Given the description of an element on the screen output the (x, y) to click on. 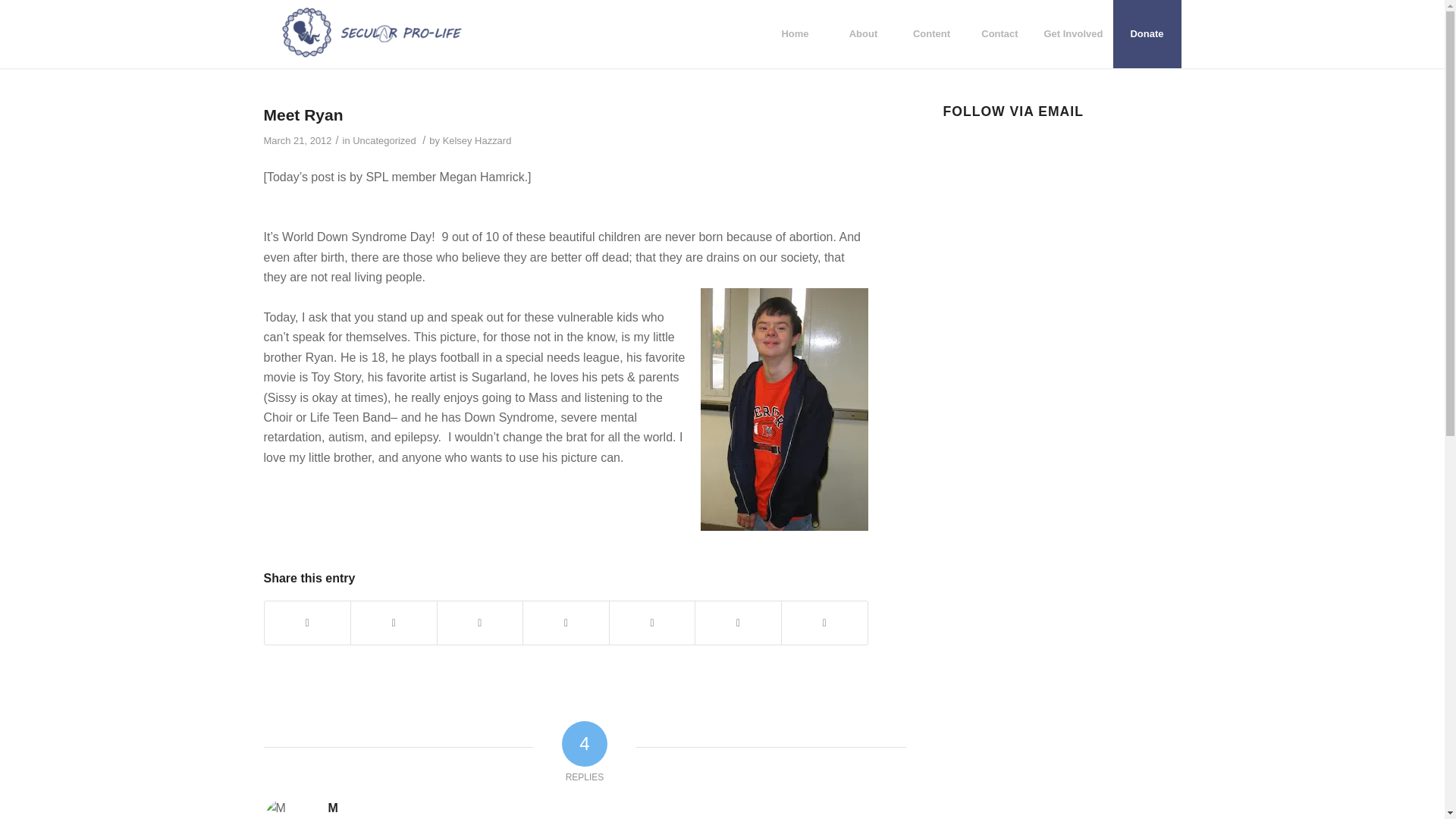
Contact (999, 33)
Home (794, 33)
Posts by Kelsey Hazzard (477, 140)
SecularProlife2 (371, 33)
Content (930, 33)
About (862, 33)
